Given the description of an element on the screen output the (x, y) to click on. 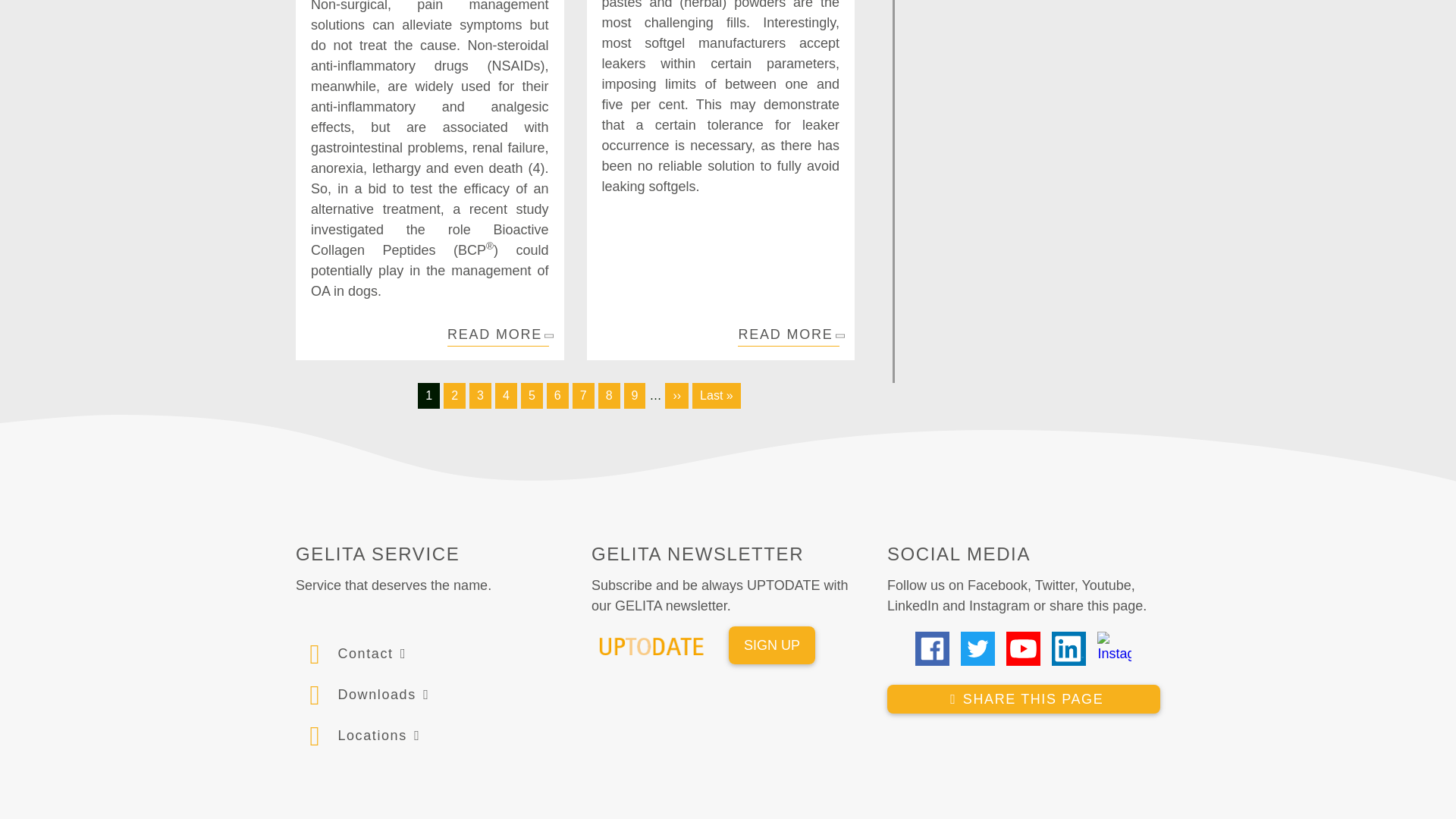
Go to page 7 (583, 395)
Go to page 2 (454, 395)
Current page (428, 395)
Go to page 5 (532, 395)
Go to page 3 (480, 395)
Go to page 4 (505, 395)
Go to page 9 (635, 395)
Go to page 8 (609, 395)
Go to page 6 (558, 395)
